Given the description of an element on the screen output the (x, y) to click on. 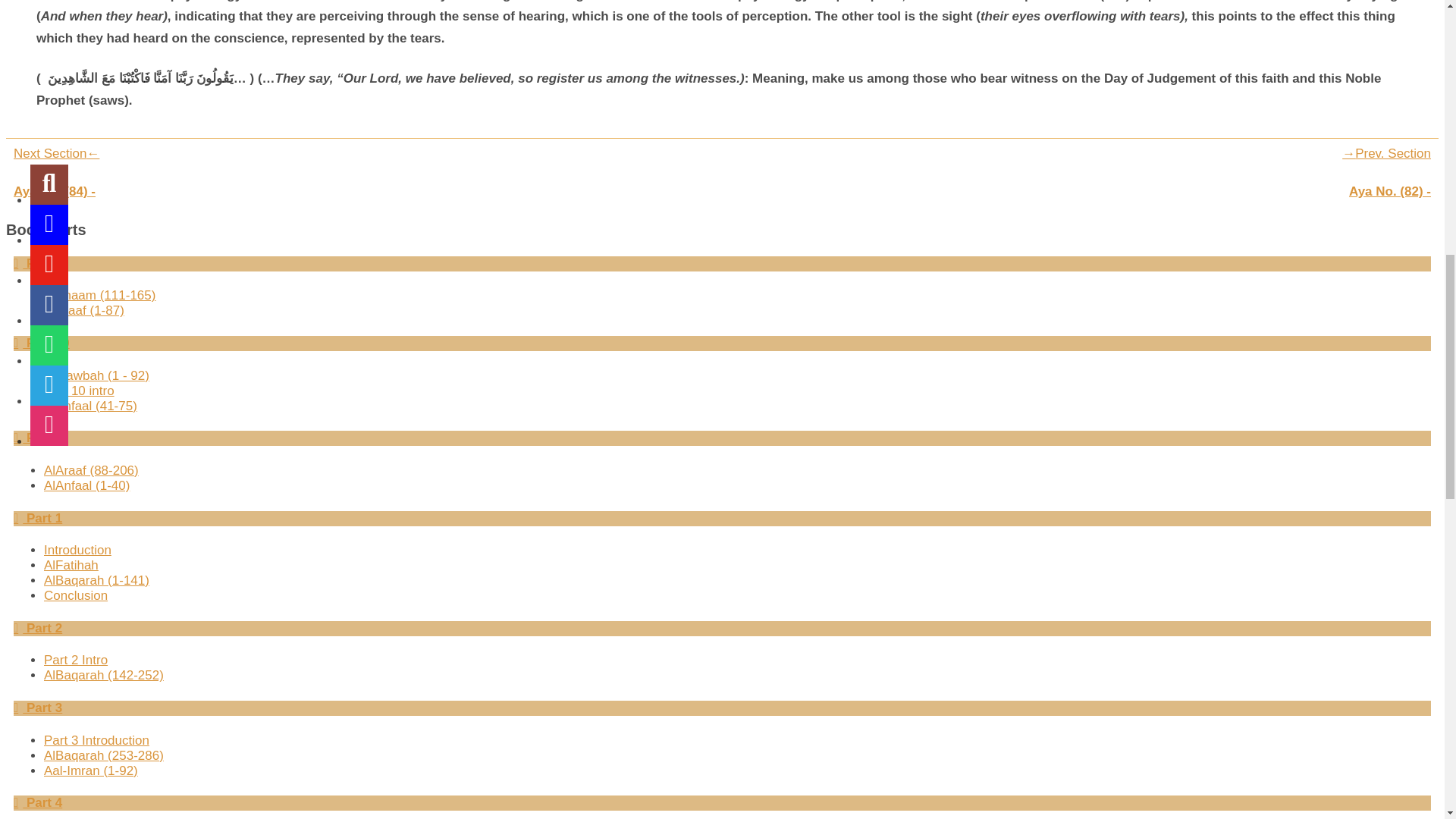
AlFatihah (71, 564)
Part 1 (37, 518)
Part 2 (37, 627)
Part 8 (37, 263)
Part 10 (41, 342)
Part 4 (37, 802)
Part 9 (37, 437)
Part 2 Intro (75, 659)
Part 3 (37, 707)
Part 10 intro (79, 391)
Part 3 Introduction (96, 740)
Introduction (77, 549)
Conclusion (75, 595)
